Given the description of an element on the screen output the (x, y) to click on. 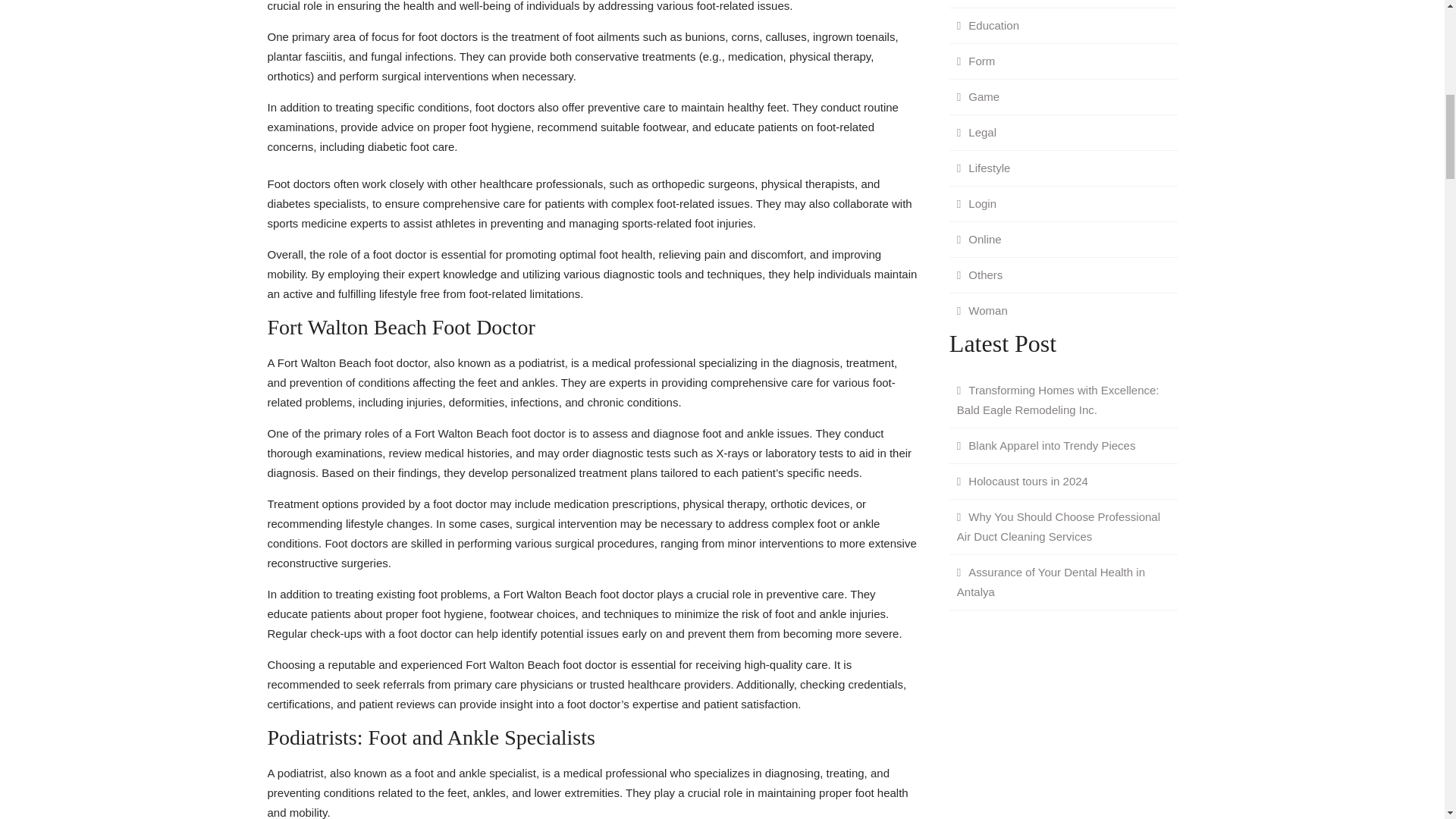
Game (978, 95)
Form (976, 61)
Login (976, 203)
Online (979, 238)
Education (987, 24)
Decoration (989, 3)
Lifestyle (983, 167)
Legal (976, 132)
